Given the description of an element on the screen output the (x, y) to click on. 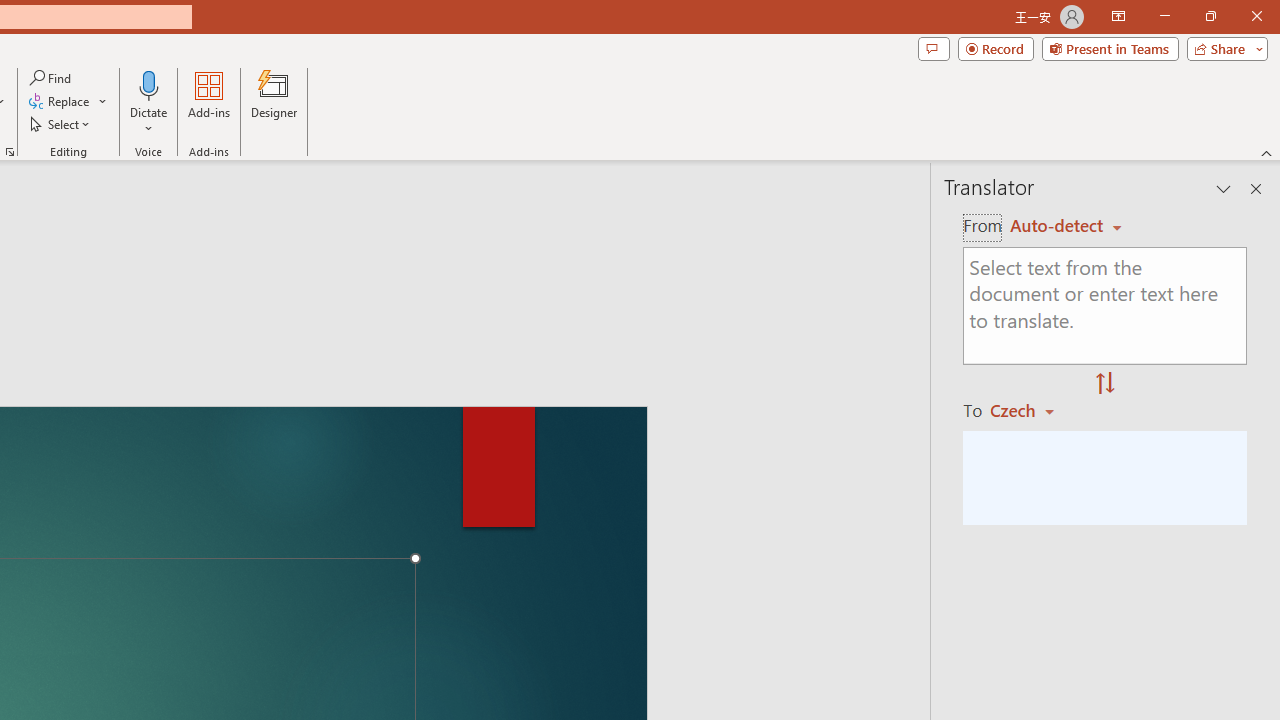
Auto-detect (1066, 225)
Czech (1030, 409)
